Given the description of an element on the screen output the (x, y) to click on. 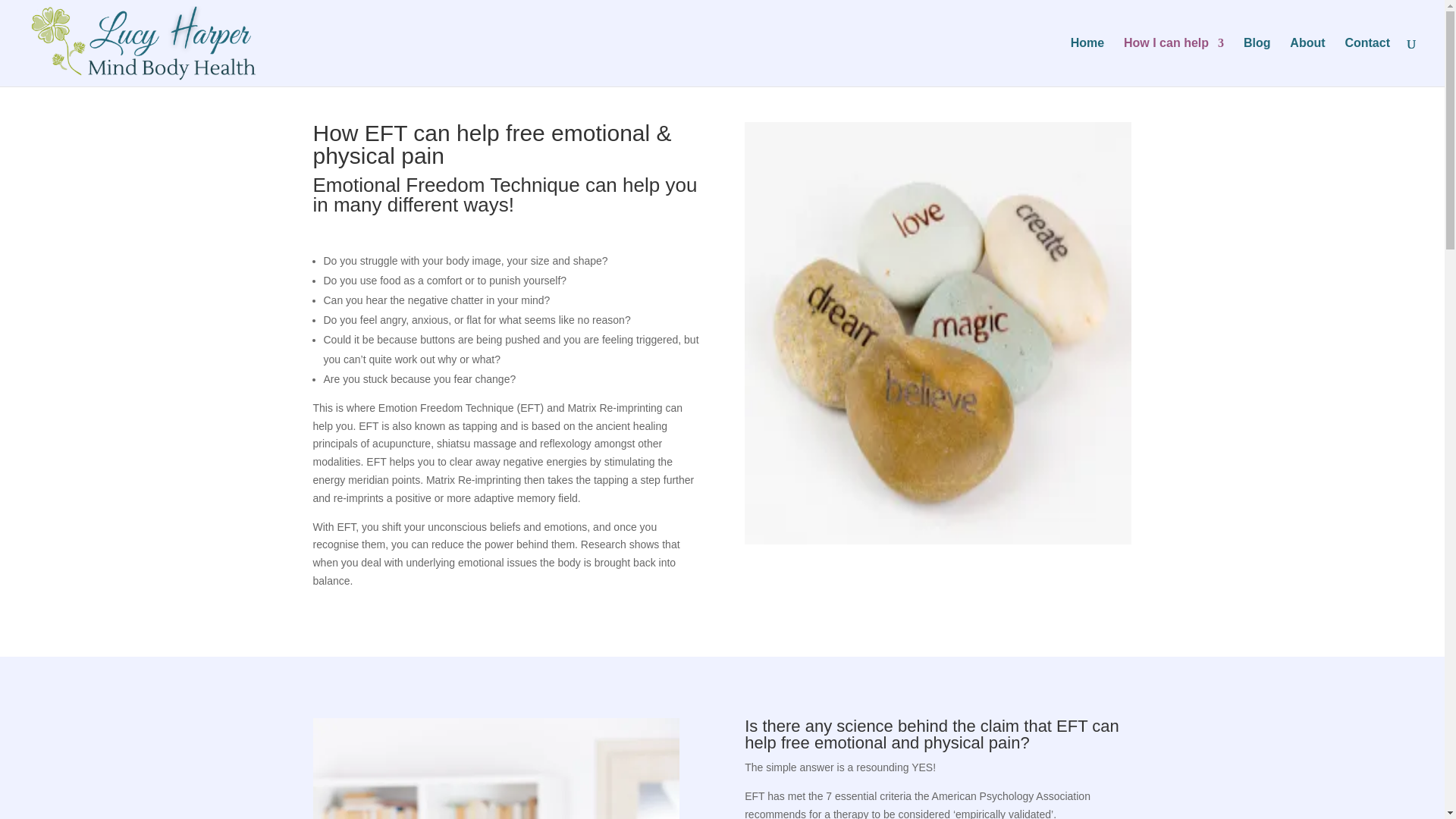
EFT tapping points (495, 768)
Contact (1366, 61)
How I can help (1174, 61)
